Given the description of an element on the screen output the (x, y) to click on. 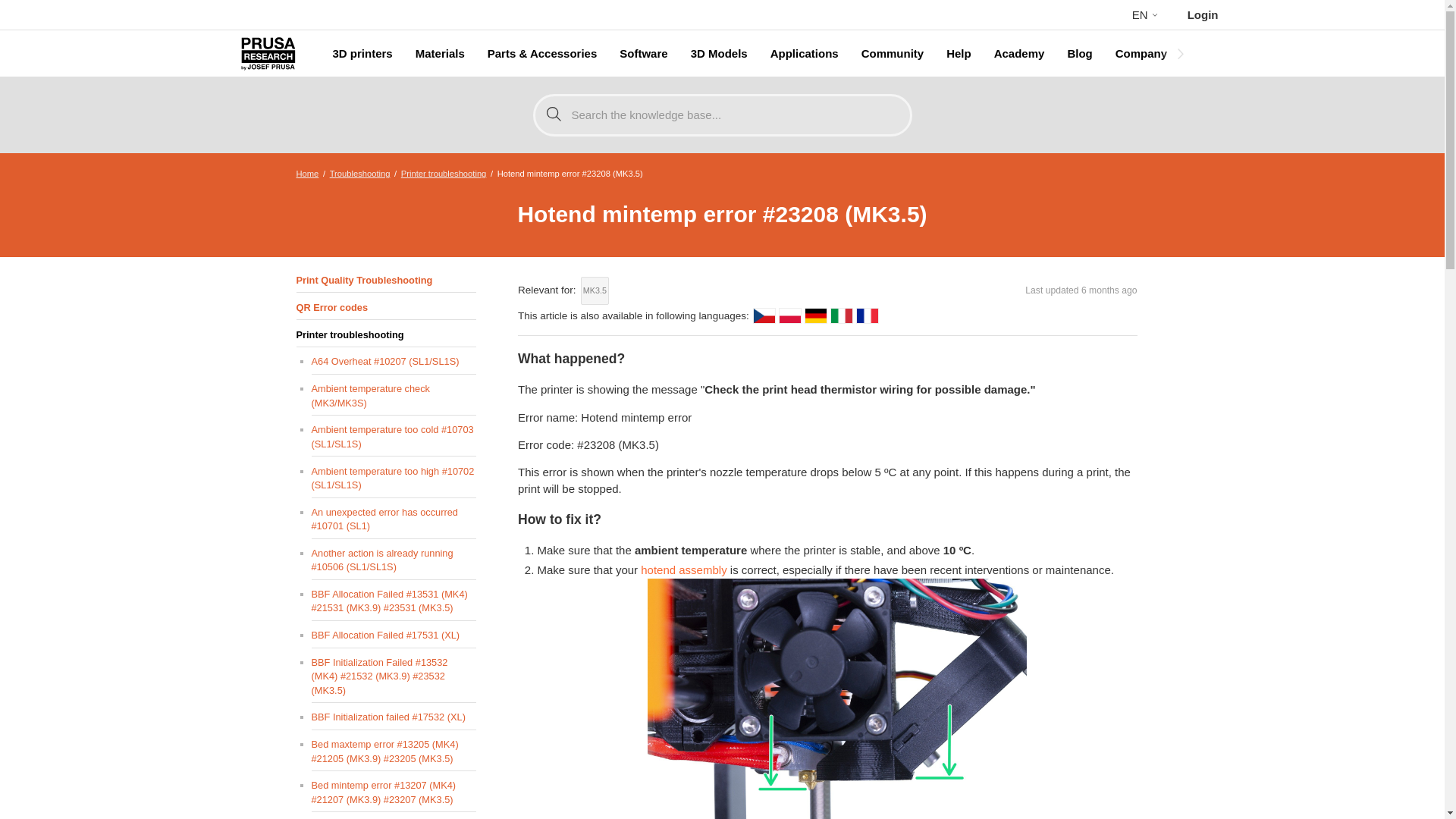
Printer troubleshooting (443, 173)
Materials (440, 53)
CS (764, 315)
Help (958, 53)
Login (1203, 14)
PL (789, 315)
Company (1140, 53)
3D Models (718, 53)
QR Error codes (385, 307)
Applications (804, 53)
